Given the description of an element on the screen output the (x, y) to click on. 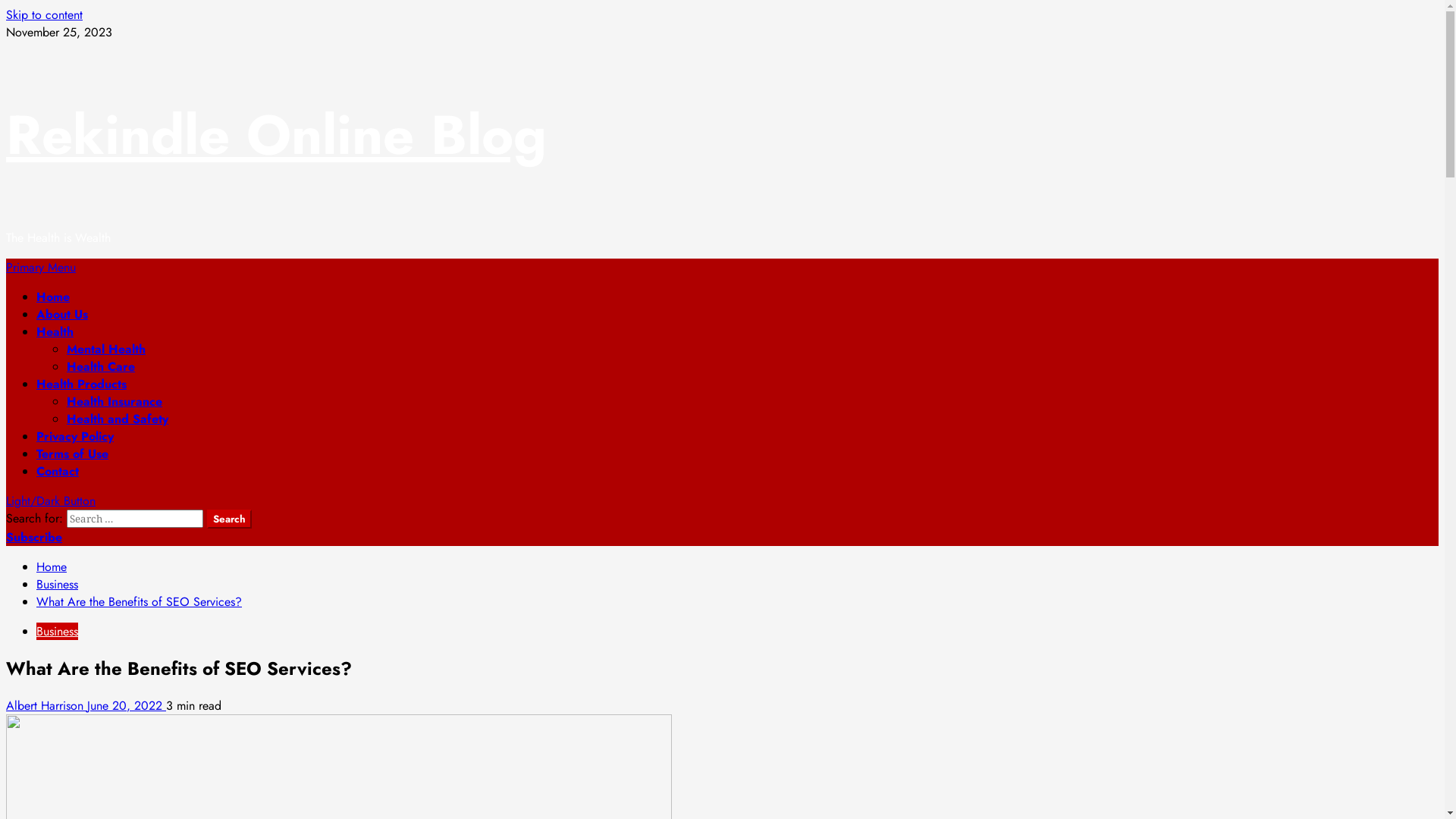
Business Element type: text (57, 584)
Home Element type: text (52, 296)
Mental Health Element type: text (105, 348)
Skip to content Element type: text (44, 14)
Health Products Element type: text (81, 383)
Albert Harrison Element type: text (46, 705)
Terms of Use Element type: text (72, 453)
Health and Safety Element type: text (117, 418)
Subscribe Element type: text (34, 537)
June 20, 2022 Element type: text (126, 705)
Contact Element type: text (57, 471)
Health Insurance Element type: text (114, 401)
Health Care Element type: text (100, 366)
Health Element type: text (54, 331)
Primary Menu Element type: text (40, 267)
Business Element type: text (57, 631)
About Us Element type: text (61, 314)
Search Element type: text (229, 518)
Light/Dark Button Element type: text (50, 500)
What Are the Benefits of SEO Services? Element type: text (138, 601)
Home Element type: text (51, 566)
Privacy Policy Element type: text (74, 436)
Rekindle Online Blog Element type: text (276, 134)
